Given the description of an element on the screen output the (x, y) to click on. 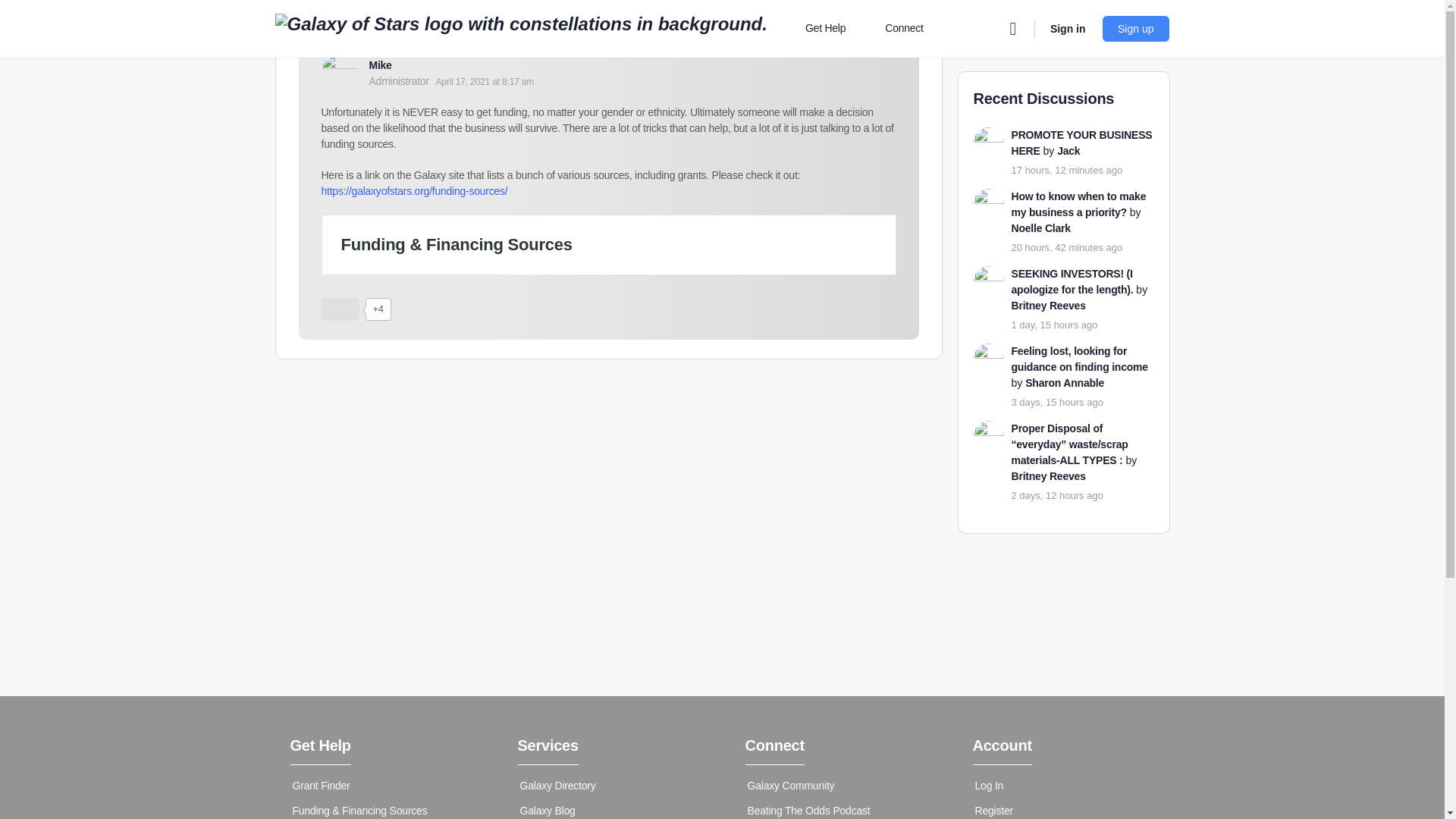
View Mike's profile (379, 64)
Sign up (1135, 28)
View Mike's profile (339, 72)
Get Help (831, 28)
Connect (910, 28)
Sign in (1067, 28)
About (824, 86)
